Given the description of an element on the screen output the (x, y) to click on. 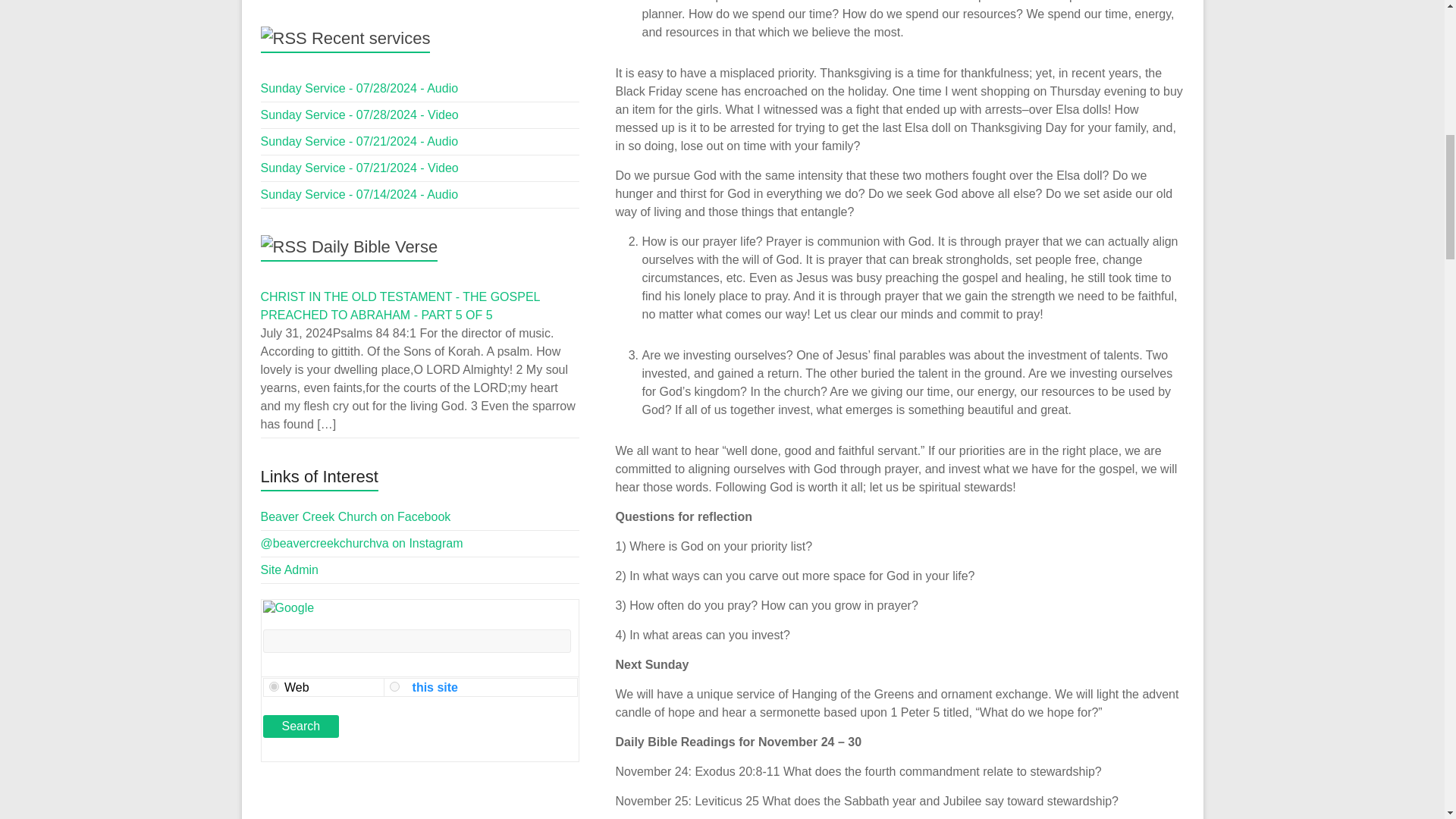
Recent services (370, 37)
Beaver Creek Church on Facebook (355, 516)
Site Admin (289, 569)
Search the Web (295, 686)
Search (300, 725)
Daily Bible Verse (374, 246)
Search beavercreekchurchva.org (432, 686)
Search (300, 725)
beavercreekchurchva.org (394, 686)
